Given the description of an element on the screen output the (x, y) to click on. 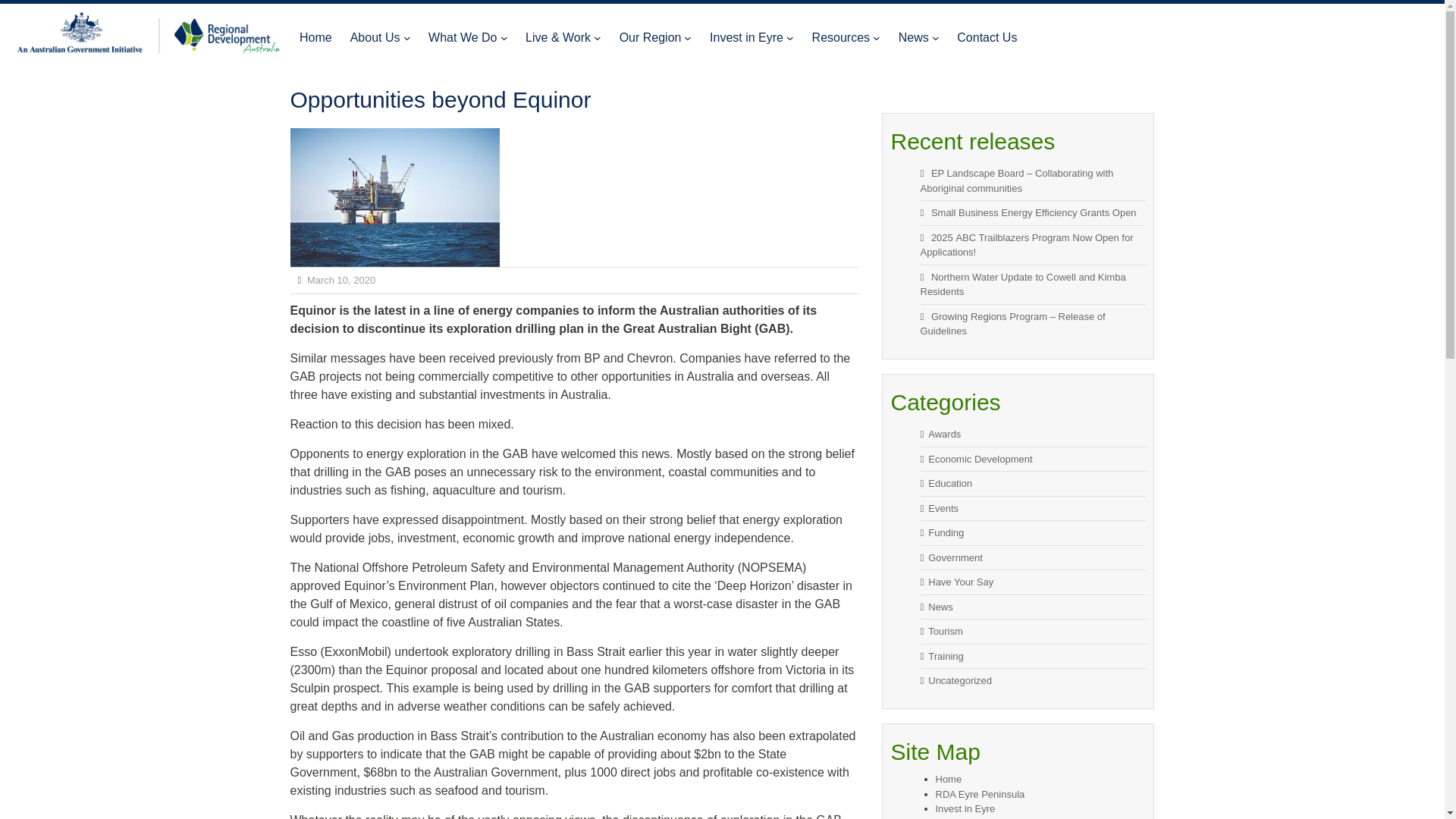
Invest in Eyre (746, 37)
Our Region (650, 37)
What We Do (462, 37)
Home (315, 37)
About Us (375, 37)
